Given the description of an element on the screen output the (x, y) to click on. 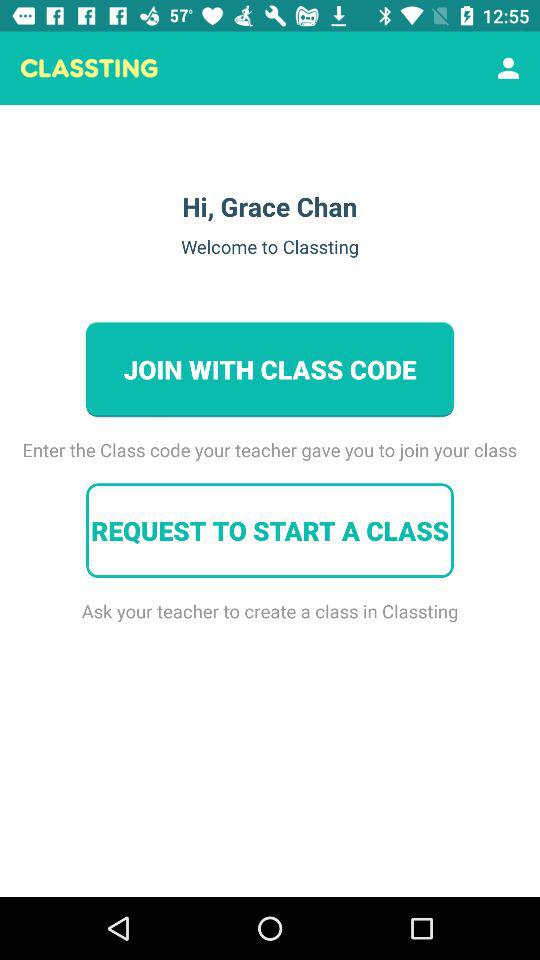
turn on the item above ask your teacher item (269, 530)
